Given the description of an element on the screen output the (x, y) to click on. 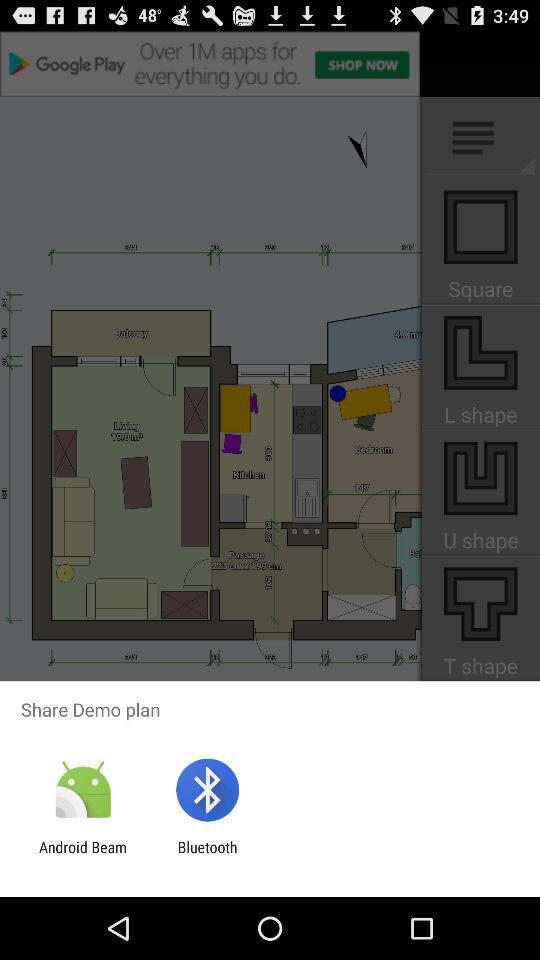
turn on android beam (83, 856)
